Given the description of an element on the screen output the (x, y) to click on. 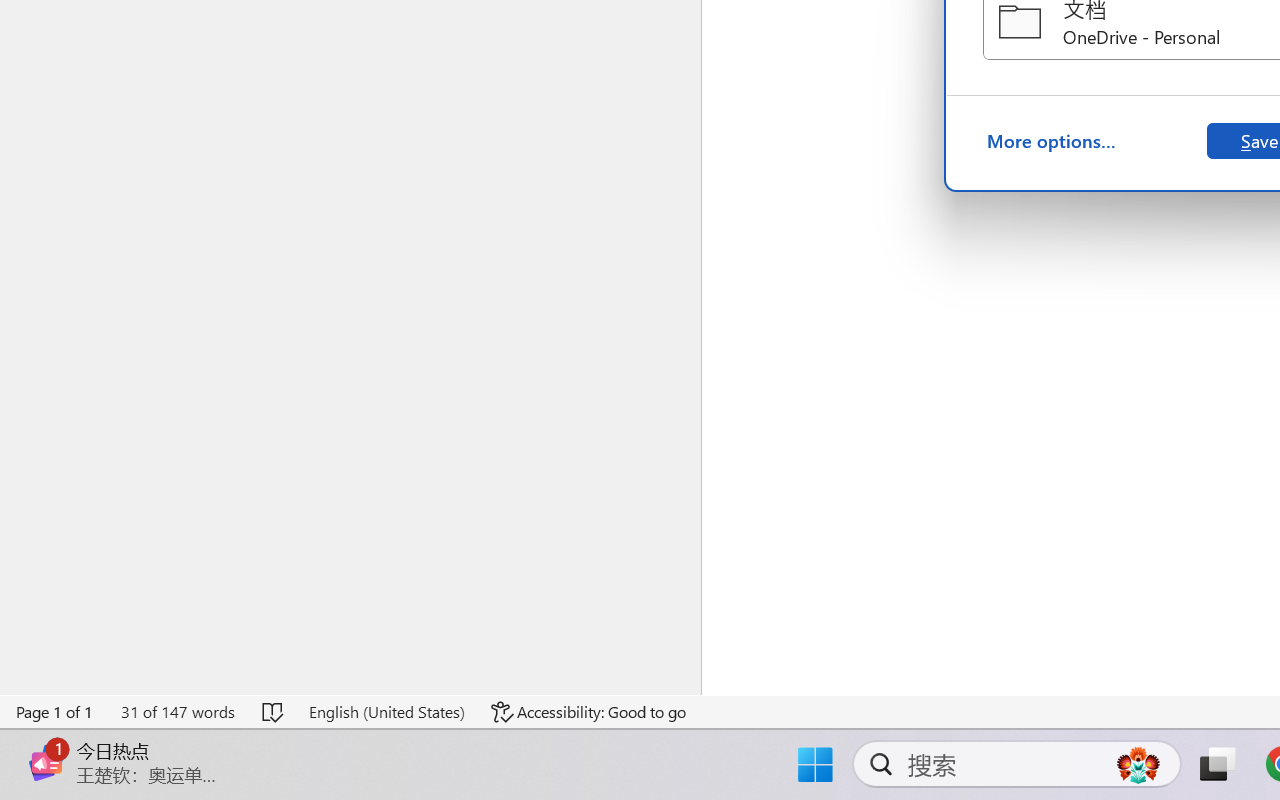
Page Number Page 1 of 1 (55, 712)
